Given the description of an element on the screen output the (x, y) to click on. 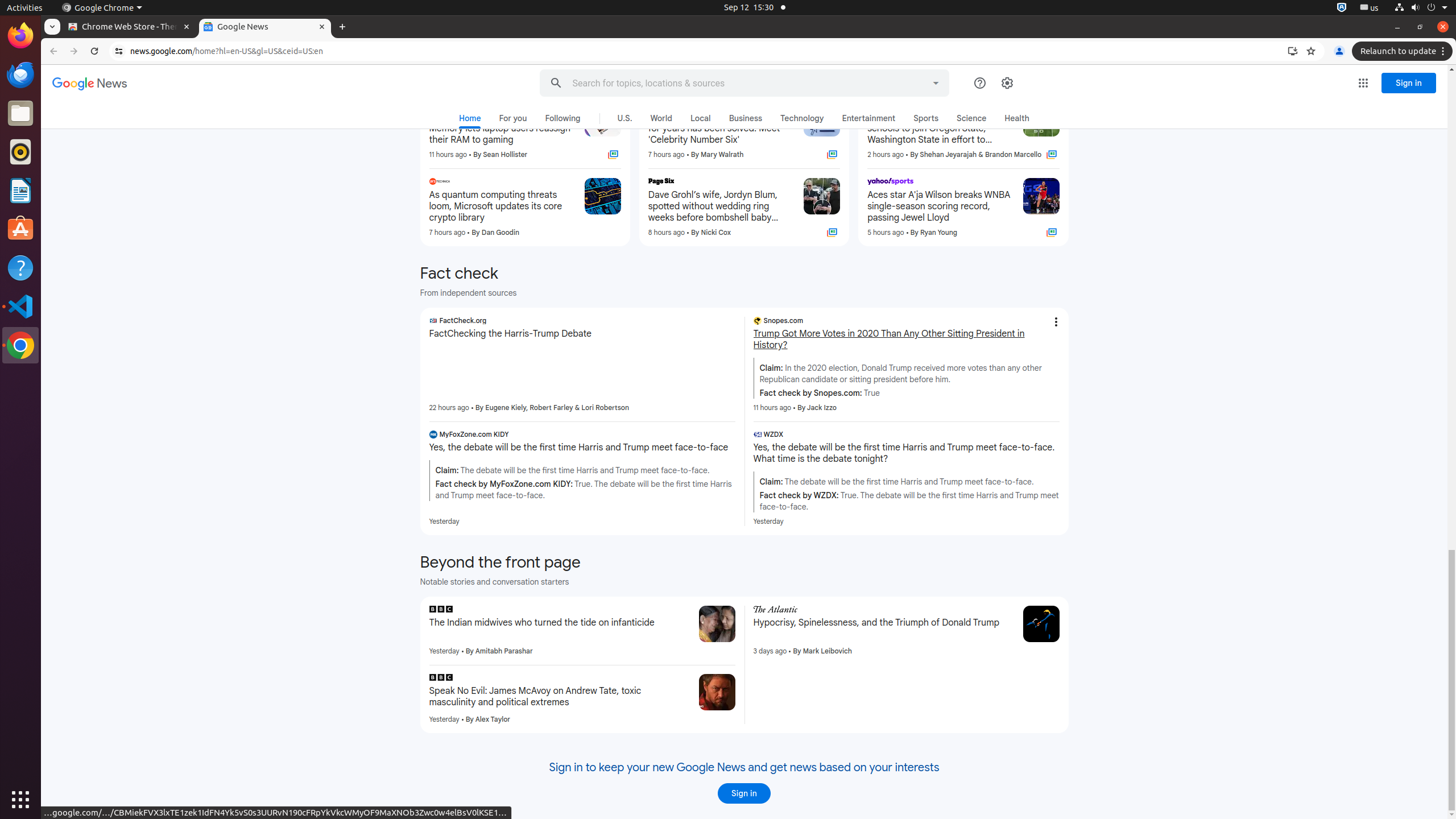
Sign in Element type: link (1408, 82)
More - Speak No Evil: James McAvoy on Andrew Tate, toxic masculinity and political extremes Element type: push-button (685, 679)
Firefox Web Browser Element type: push-button (20, 35)
Advanced search Element type: push-button (935, 80)
Bookmark this tab Element type: push-button (1310, 51)
